Given the description of an element on the screen output the (x, y) to click on. 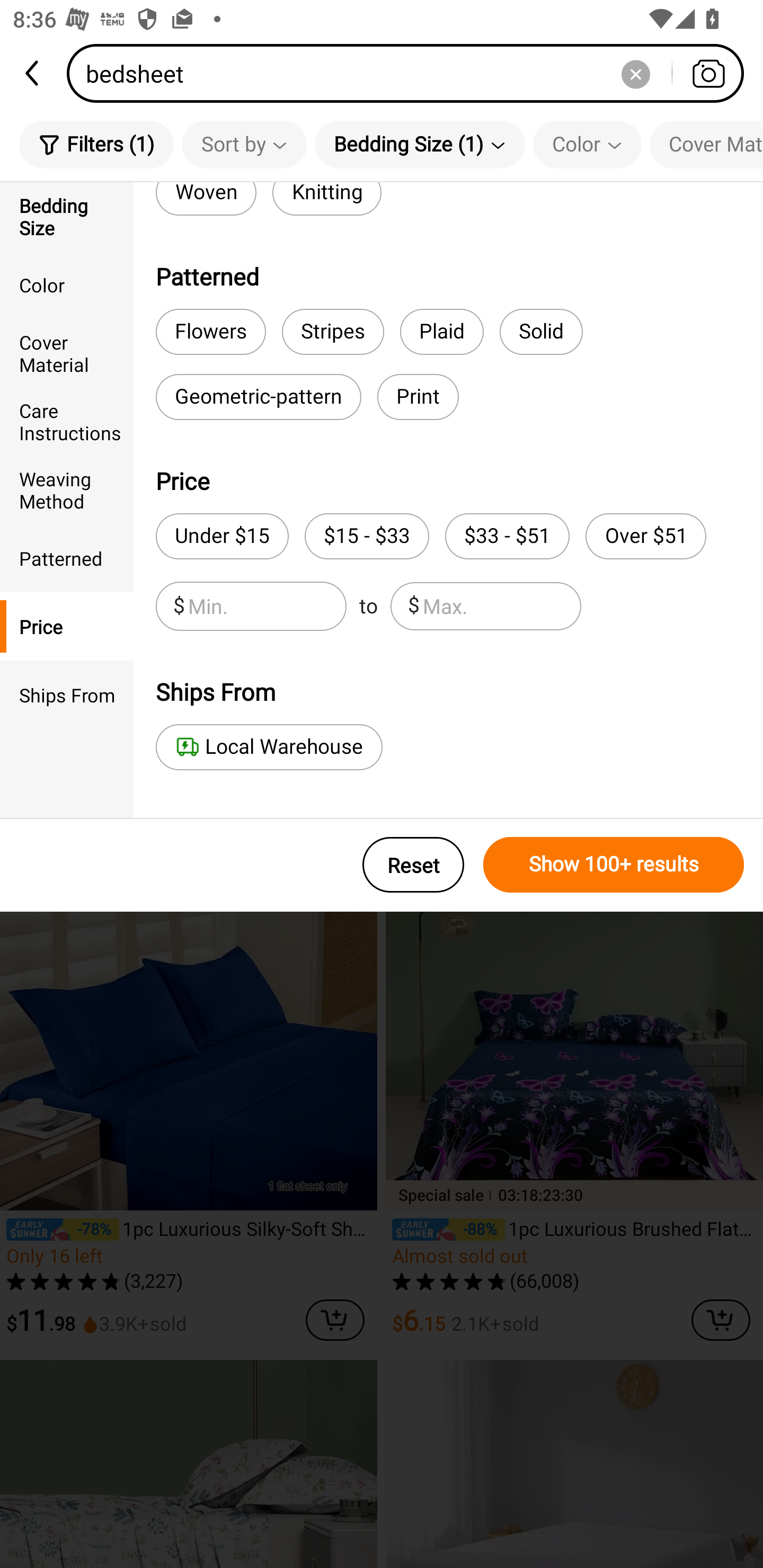
back (33, 72)
bedsheet (411, 73)
Delete search history (635, 73)
Search by photo (708, 73)
Filters (1) (96, 143)
Sort by (243, 143)
Bedding Size (1) (419, 143)
Color (587, 143)
Cover Material (706, 143)
Bedding Size (66, 215)
Woven (205, 198)
Knitting (326, 198)
bed sheet set (232, 271)
Color (66, 284)
Flowers (210, 331)
Stripes (332, 331)
Plaid (441, 331)
Solid (540, 331)
Cover Material (66, 352)
Geometric-pattern (258, 397)
